Given the description of an element on the screen output the (x, y) to click on. 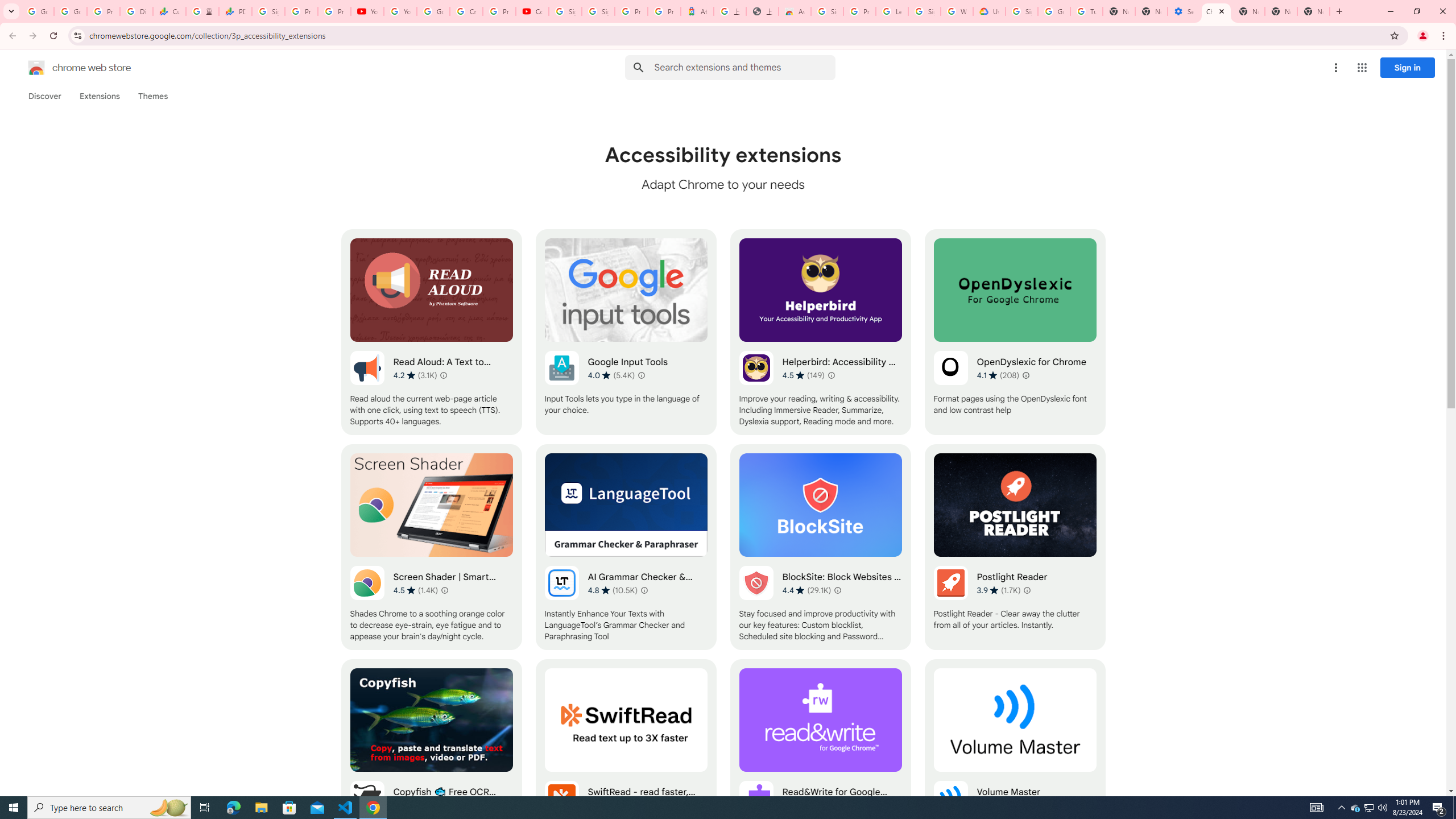
More options menu (1335, 67)
Google Account Help (433, 11)
Chrome Web Store - Accessibility extensions (1216, 11)
Awesome Screen Recorder & Screenshot - Chrome Web Store (794, 11)
Average rating 4.5 out of 5 stars. 1.4K ratings. (415, 590)
